Given the description of an element on the screen output the (x, y) to click on. 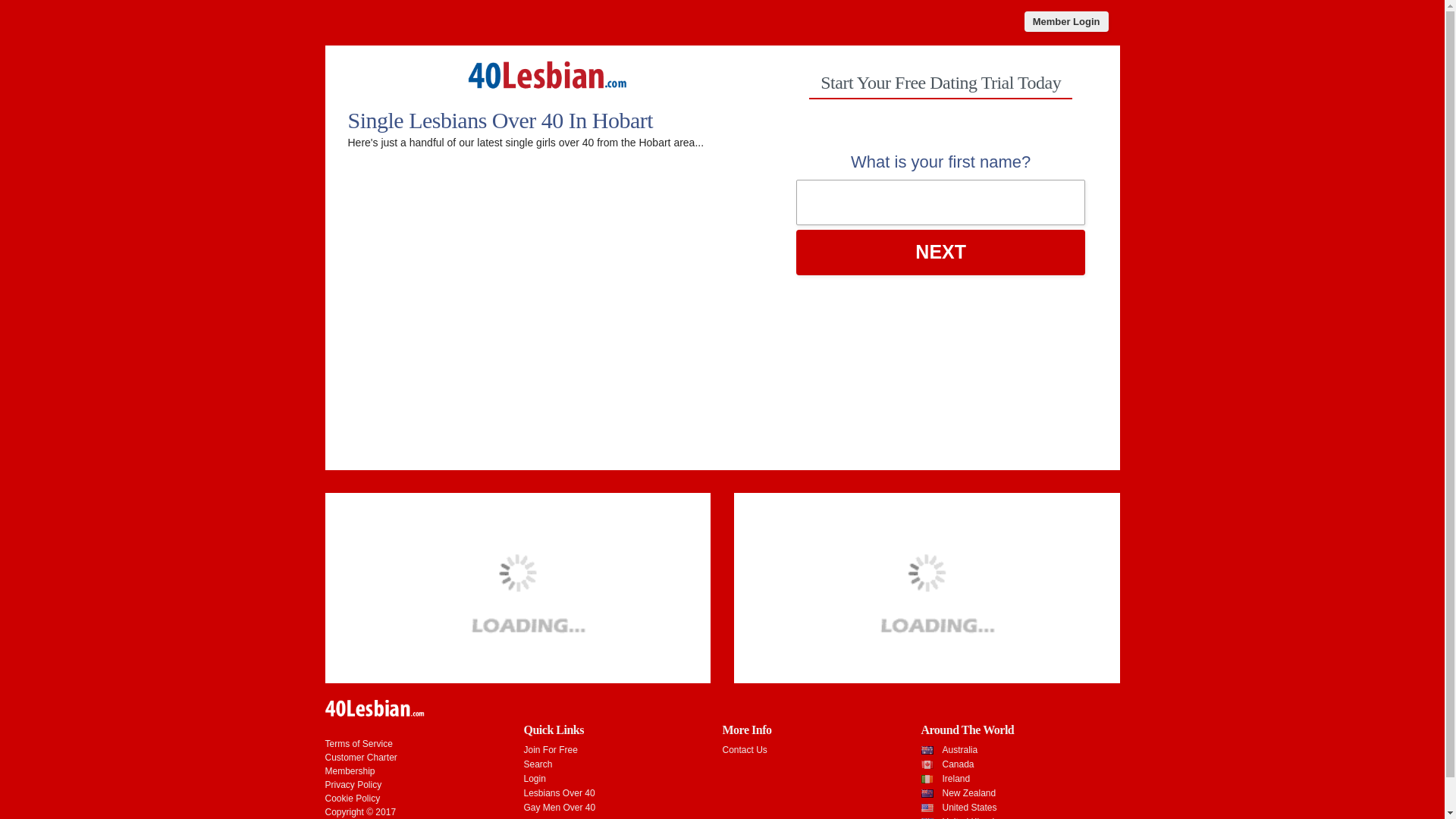
United States Element type: text (968, 807)
Customer Charter Element type: text (360, 757)
Join For Free Element type: text (550, 749)
Search Element type: text (537, 764)
Terms of Service Element type: text (358, 743)
Australia Element type: text (959, 749)
Member Login Element type: text (1066, 21)
NEXT Element type: text (940, 252)
Canada Element type: text (957, 764)
Gay Men Over 40 Element type: text (559, 807)
Cookie Policy Element type: text (351, 798)
Contact Us Element type: text (743, 749)
Membership Element type: text (349, 770)
Privacy Policy Element type: text (352, 784)
Login Element type: text (534, 778)
Ireland Element type: text (955, 778)
Lesbians Over 40 Element type: text (558, 792)
New Zealand Element type: text (968, 792)
